Given the description of an element on the screen output the (x, y) to click on. 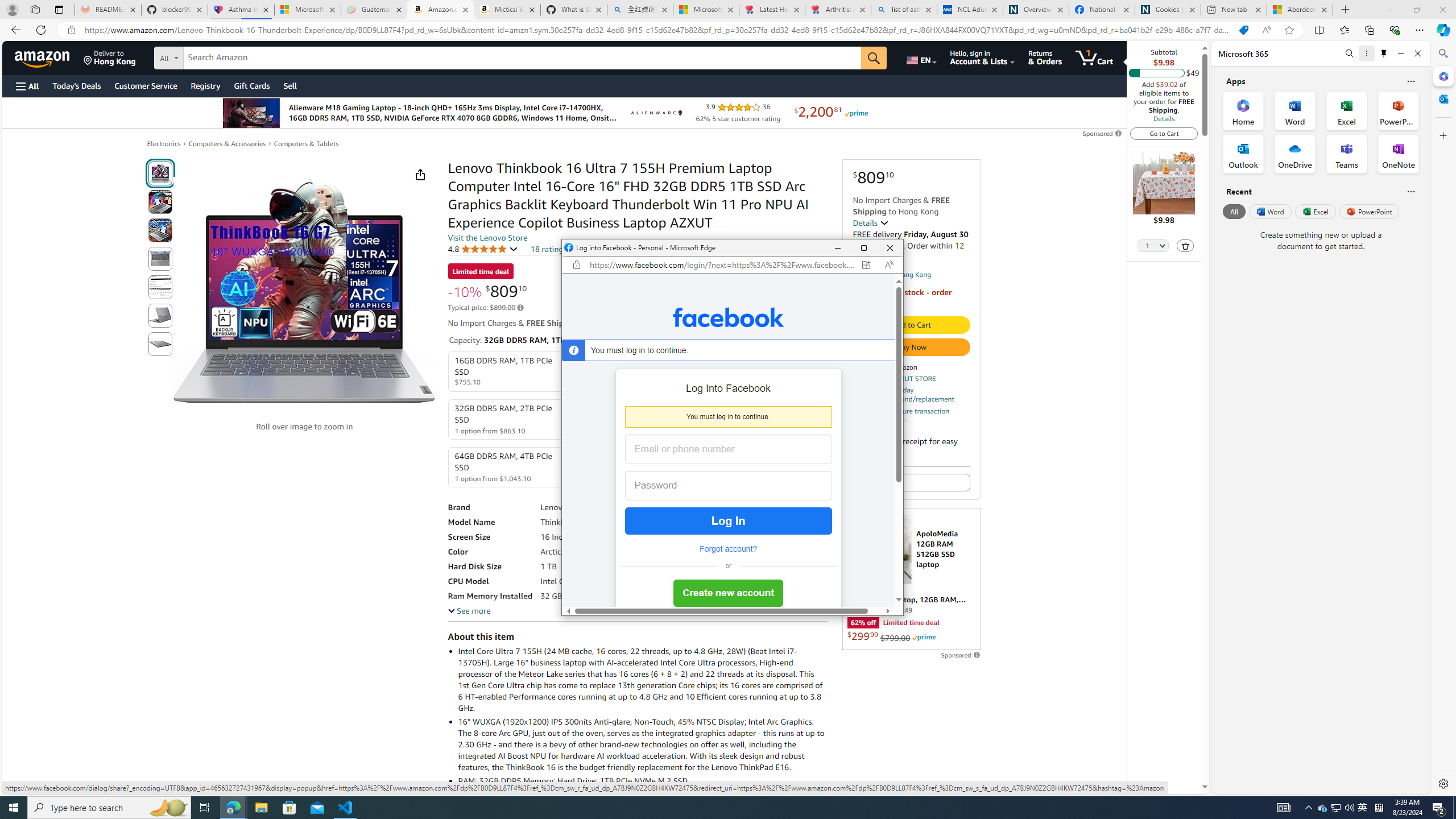
Search highlights icon opens search home window (167, 807)
Asthma Inhalers: Names and Types (240, 9)
Computers & Accessories (226, 144)
AutomationID: 4105 (1283, 807)
4.8 4.8 out of 5 stars (482, 248)
Password (719, 485)
Create new account (727, 593)
Unpin side pane (1383, 53)
NCL Adult Asthma Inhaler Choice Guideline (969, 9)
Computers & Tablets (306, 144)
